Given the description of an element on the screen output the (x, y) to click on. 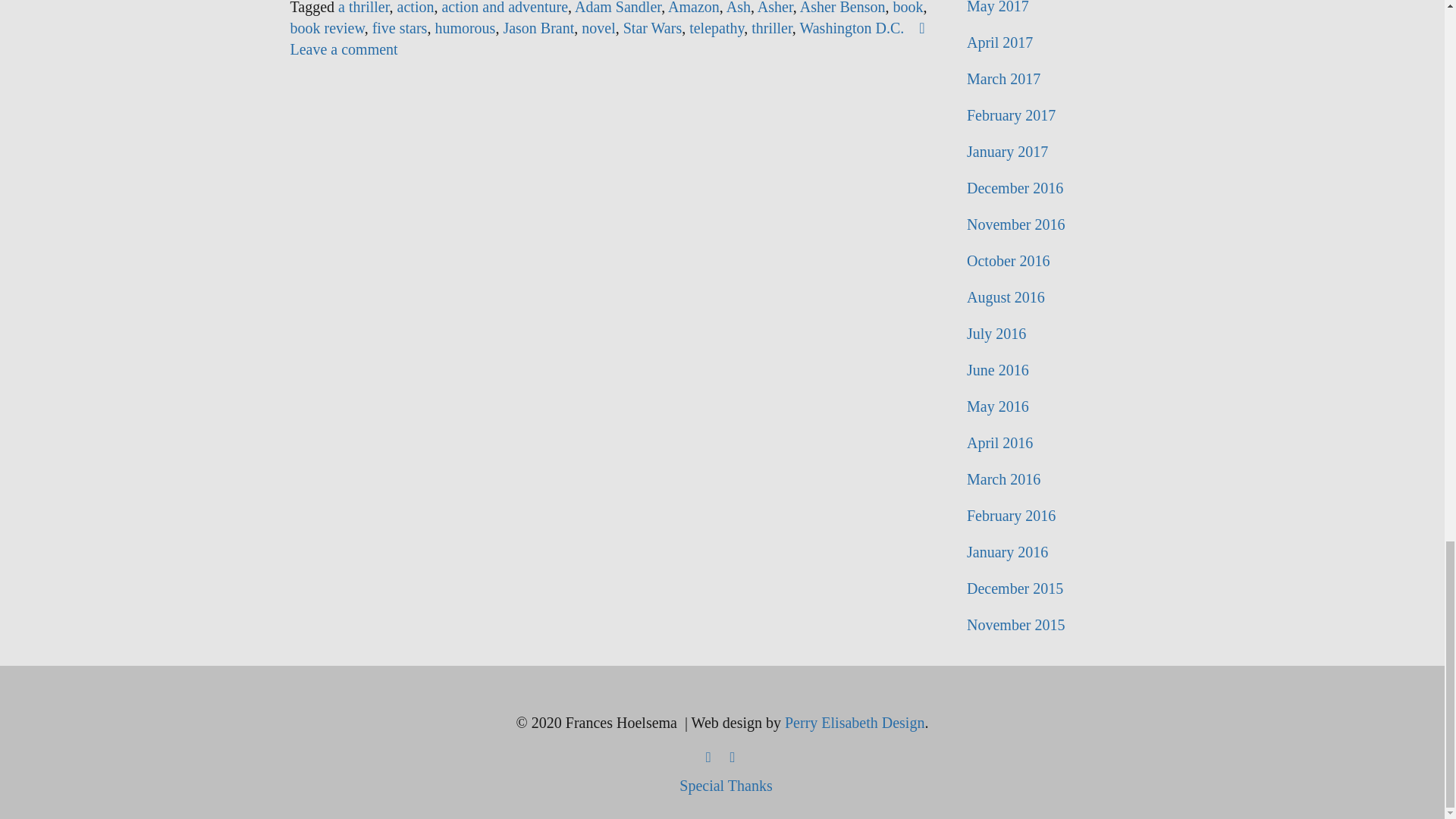
Twitter (732, 756)
book (907, 7)
book review (326, 27)
telepathy (716, 27)
humorous (464, 27)
five stars (400, 27)
novel (597, 27)
Leave a comment (610, 38)
a thriller (363, 7)
Facebook (707, 756)
Ash (738, 7)
Washington D.C. (851, 27)
action and adventure (504, 7)
Star Wars (652, 27)
Jason Brant (537, 27)
